Given the description of an element on the screen output the (x, y) to click on. 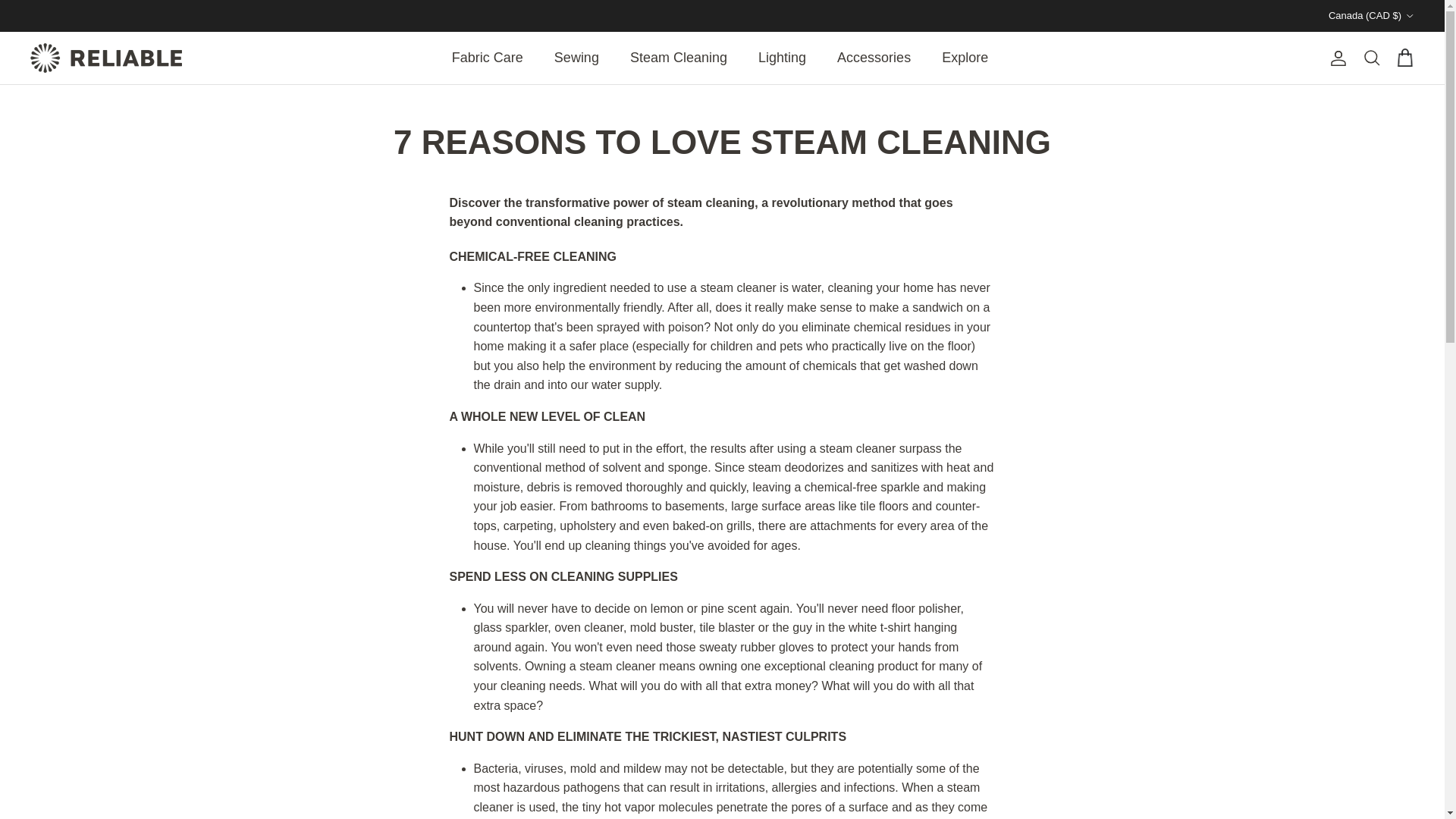
Fabric Care (487, 57)
Cart (1404, 57)
Account (1335, 58)
Explore (964, 57)
Lighting (781, 57)
reliablecorporation.com (106, 57)
Steam Cleaning (678, 57)
Sewing (576, 57)
Search (1371, 57)
Accessories (874, 57)
